Given the description of an element on the screen output the (x, y) to click on. 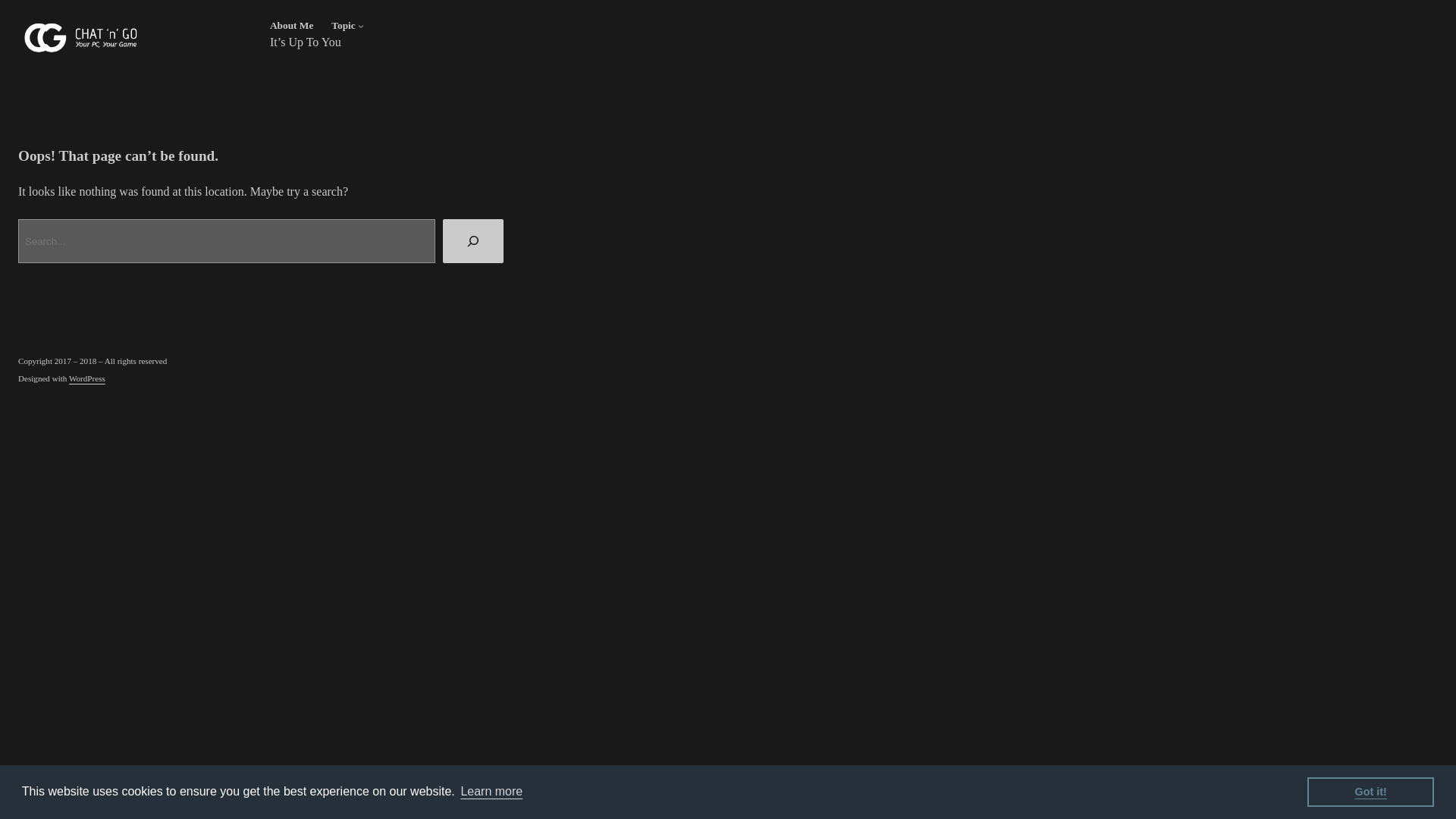
About Me (291, 25)
WordPress (86, 378)
Topic (343, 25)
